Given the description of an element on the screen output the (x, y) to click on. 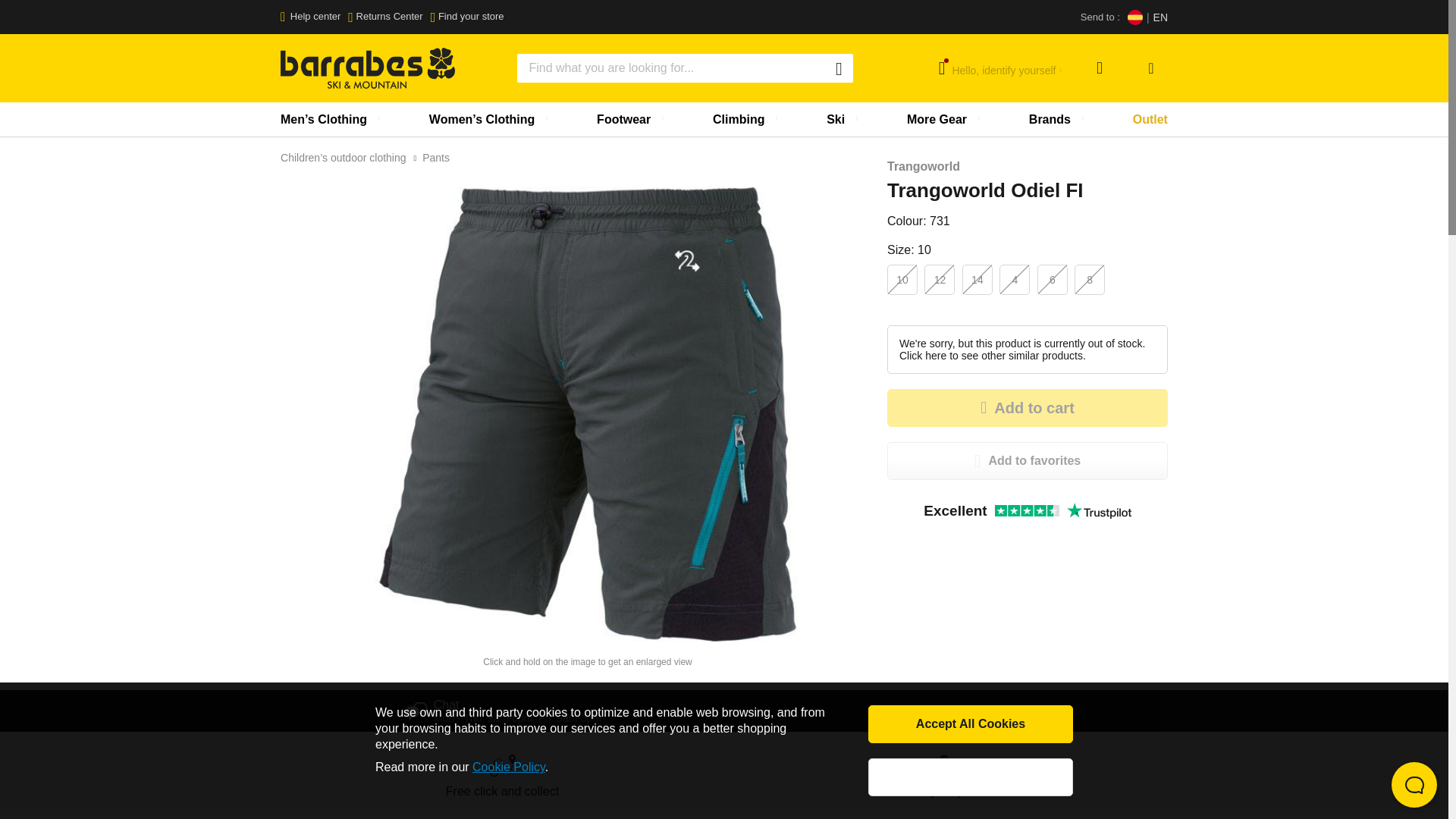
Barrabes (367, 67)
